Given the description of an element on the screen output the (x, y) to click on. 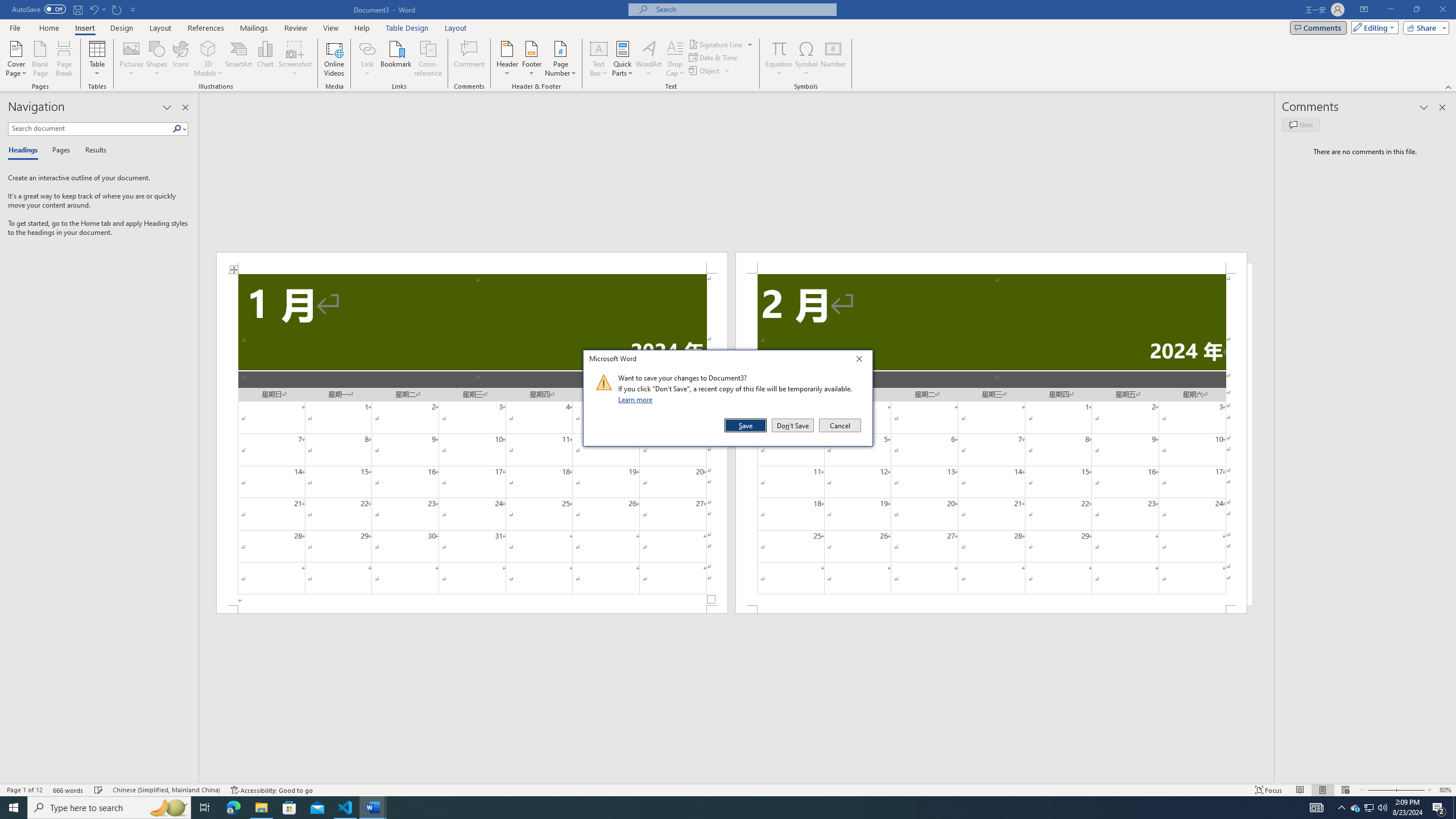
Screenshot (295, 58)
3D Models (208, 48)
Q2790: 100% (1382, 807)
Visual Studio Code - 1 running window (345, 807)
Comment (469, 58)
Task View (1355, 807)
Accessibility Checker Accessibility: Good to go (204, 807)
Footer (271, 790)
Signature Line (531, 58)
